Given the description of an element on the screen output the (x, y) to click on. 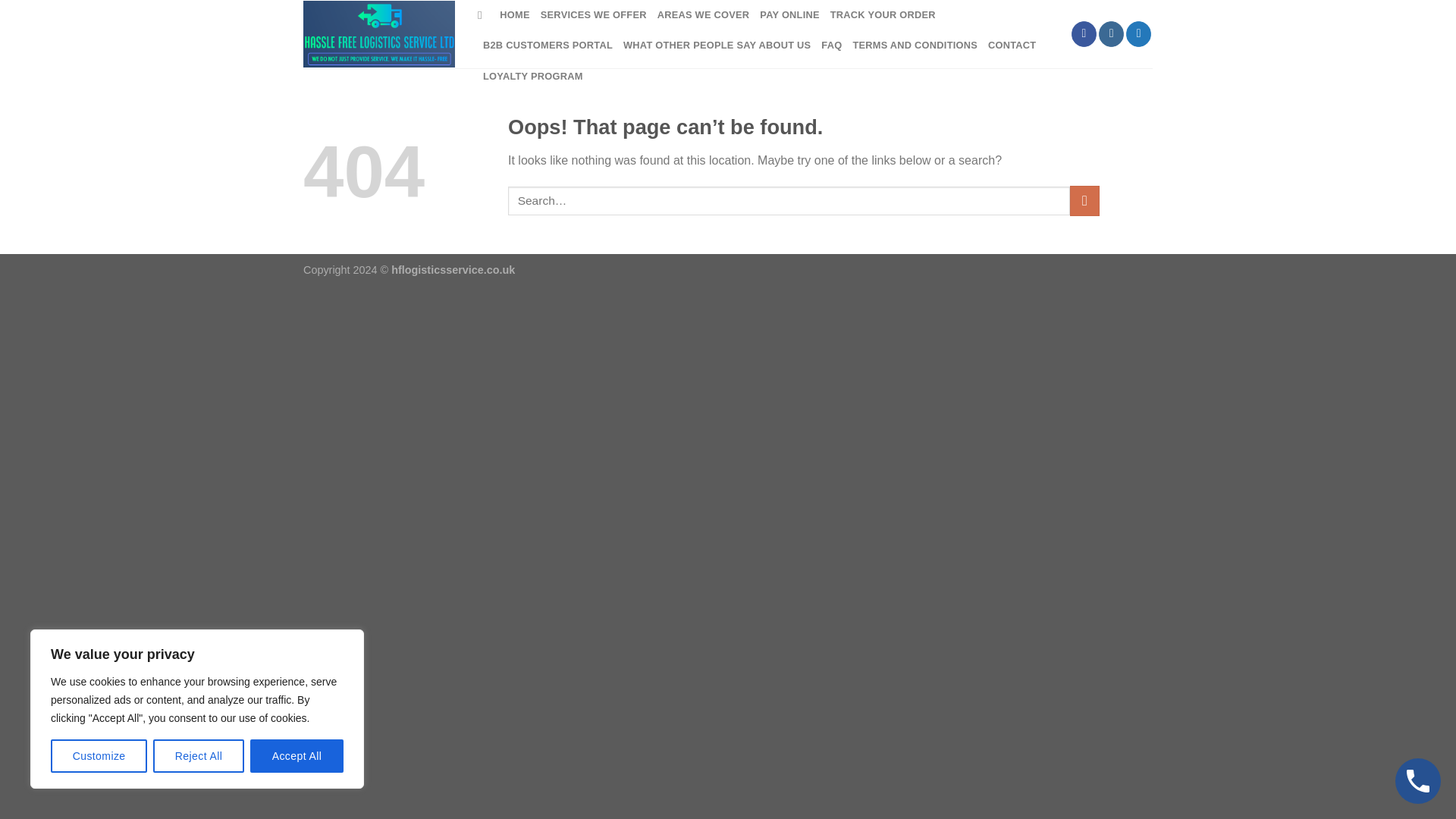
CONTACT (1011, 45)
AREAS WE COVER (703, 15)
B2B CUSTOMERS PORTAL (547, 45)
PAY ONLINE (789, 15)
LOYALTY PROGRAM (533, 76)
Hassle Free Logistics Service - Logistics Service Free (378, 33)
Follow on Instagram (1111, 33)
SERVICES WE OFFER (593, 15)
Follow on Twitter (1138, 33)
TERMS AND CONDITIONS (913, 45)
